Given the description of an element on the screen output the (x, y) to click on. 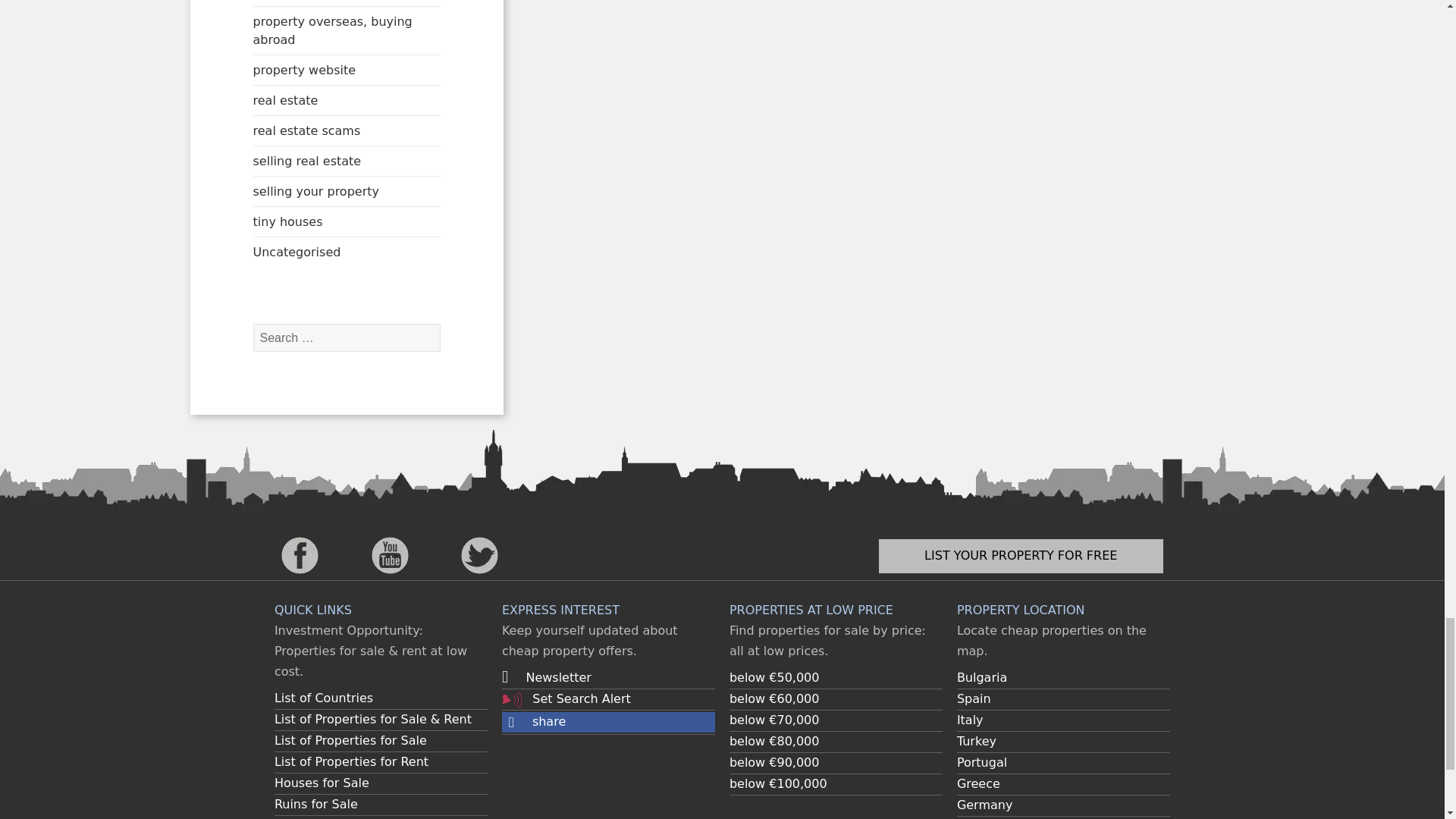
Visit us on YouTube (390, 554)
All about selling your property. (315, 191)
Houses for Sale (322, 782)
Visit us on Twitter (479, 554)
Ruins for Sale (316, 803)
List of Properties for Sale (350, 740)
List of Countries (323, 698)
All about buying and selling abroad. (332, 30)
List of Properties for Rent (351, 761)
Visit us on Facebook (299, 554)
